Given the description of an element on the screen output the (x, y) to click on. 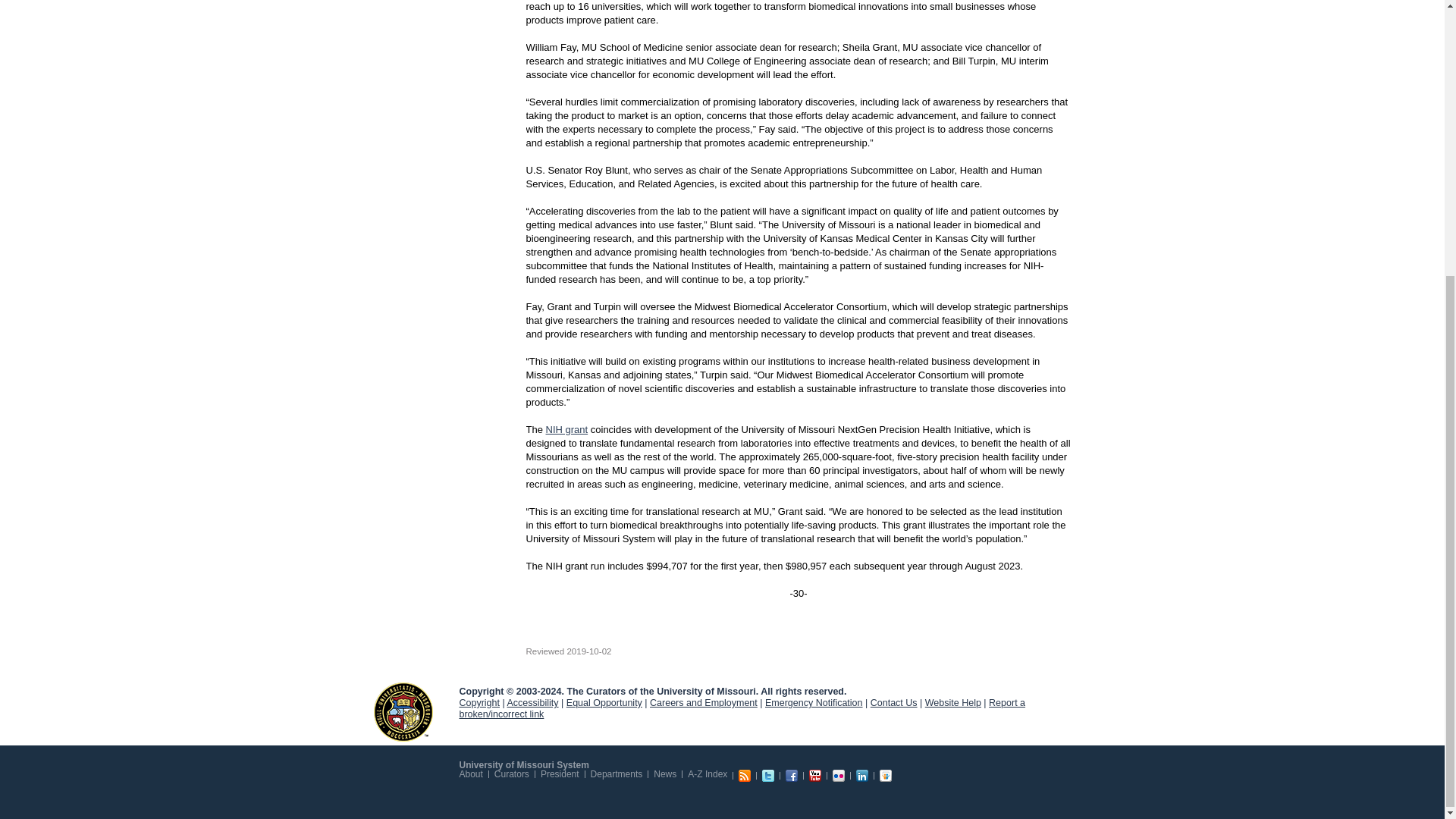
SlideShare site (885, 775)
LinkedIn page (861, 775)
RSS (744, 775)
UM System Facebook page (791, 775)
UM System YouTube channel (815, 775)
Follow umsystem on Twitter (767, 775)
UM System Flickr Photostream (838, 775)
